Given the description of an element on the screen output the (x, y) to click on. 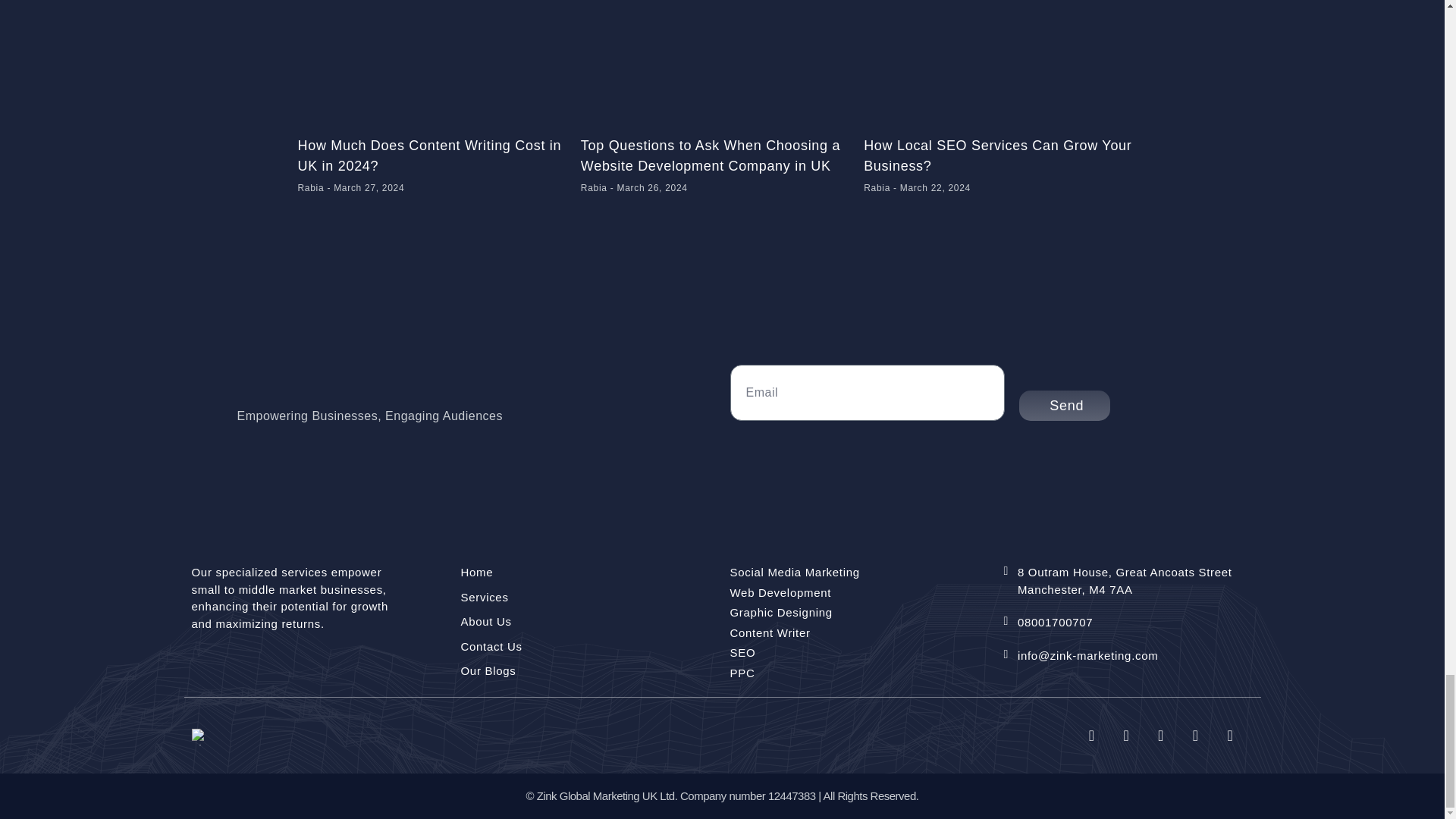
How Much Does Content Writing Cost in UK in 2024? (428, 155)
